Given the description of an element on the screen output the (x, y) to click on. 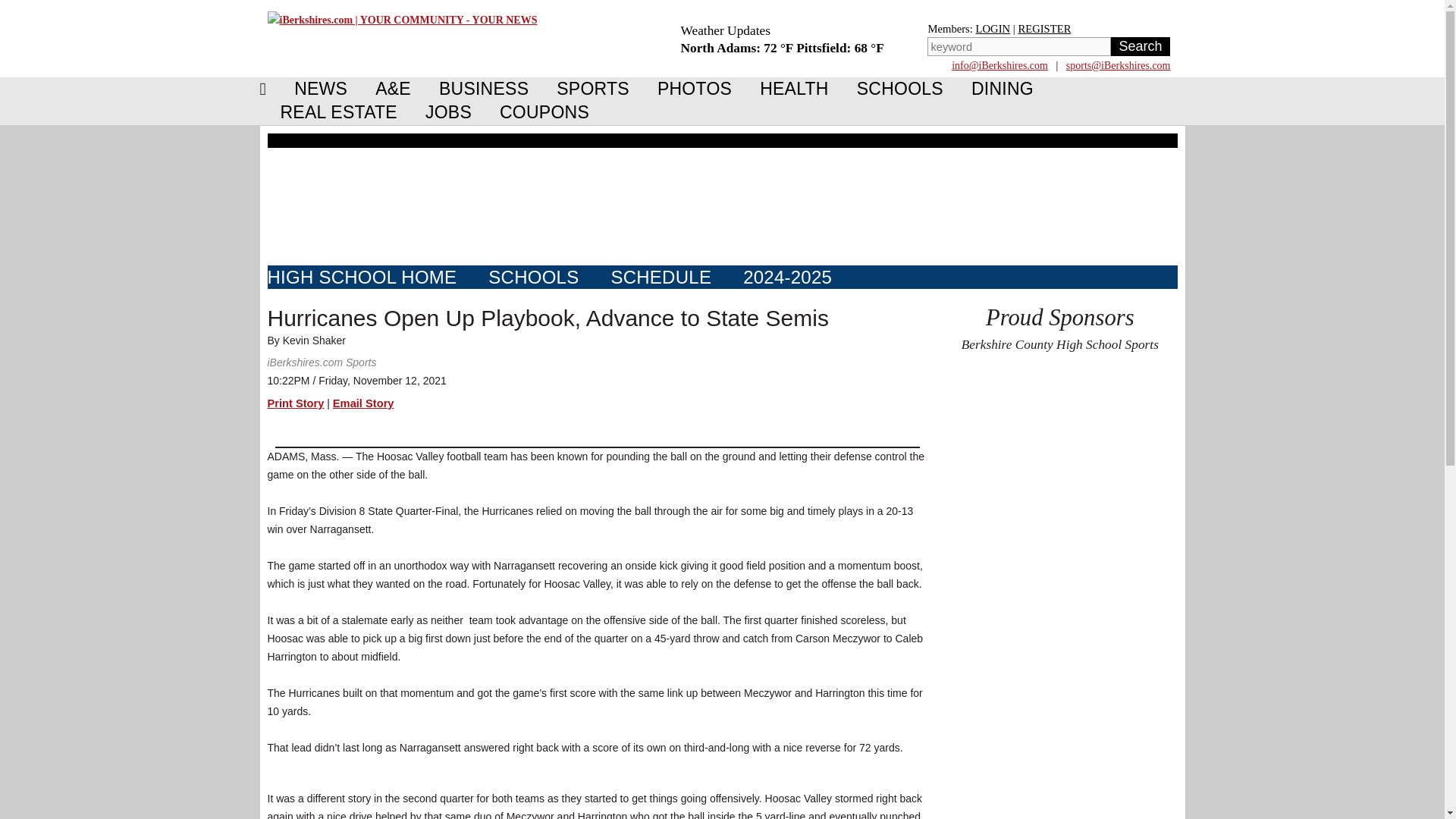
Search (1139, 46)
LOGIN (992, 28)
REGISTER (1043, 28)
Search (1139, 46)
BUSINESS (482, 88)
NEWS (320, 88)
